Given the description of an element on the screen output the (x, y) to click on. 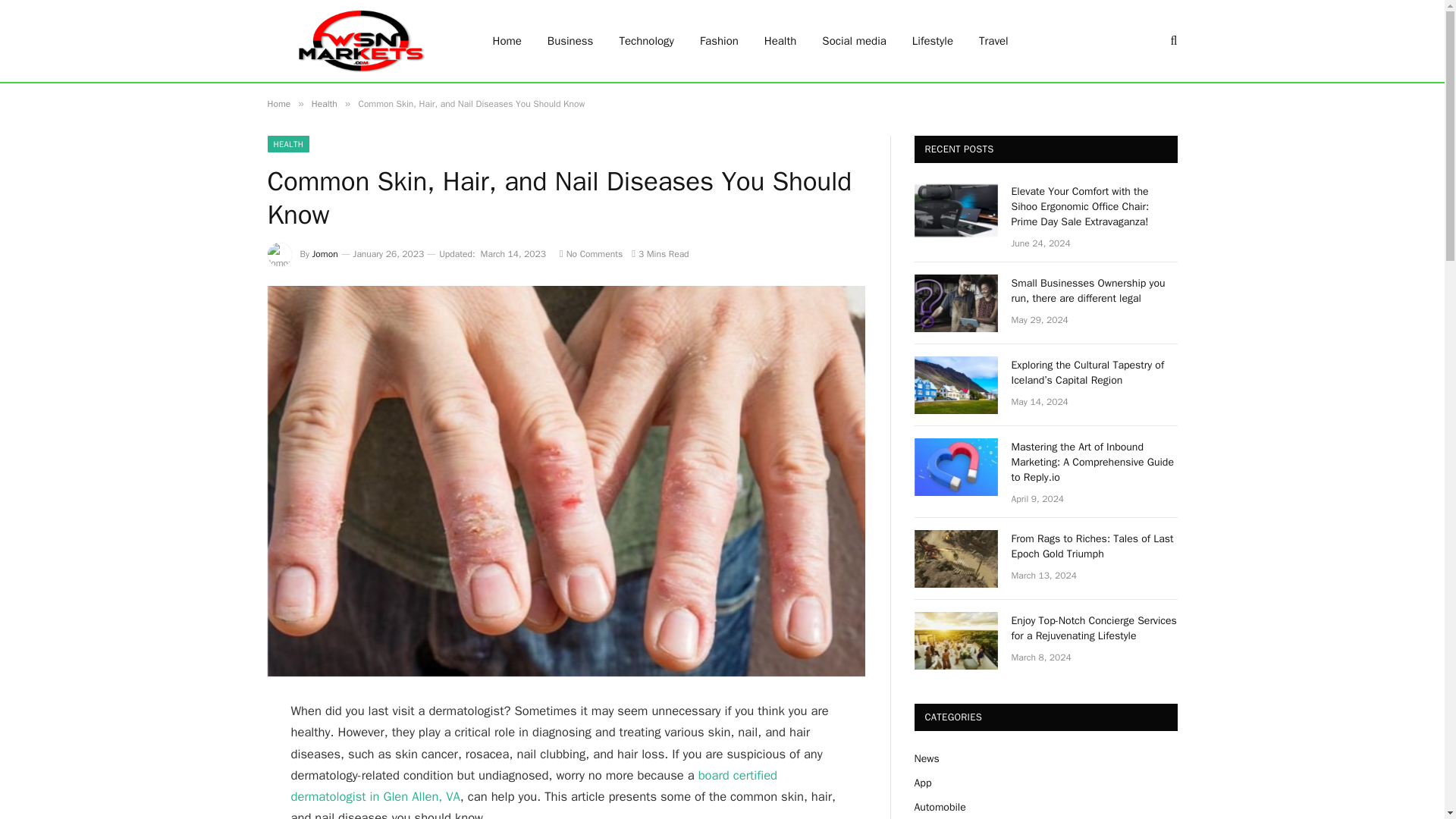
Social media (853, 40)
Wsnmarkets (359, 41)
Jomon (325, 254)
Health (324, 103)
Home (277, 103)
Technology (646, 40)
HEALTH (287, 143)
No Comments (591, 254)
